Given the description of an element on the screen output the (x, y) to click on. 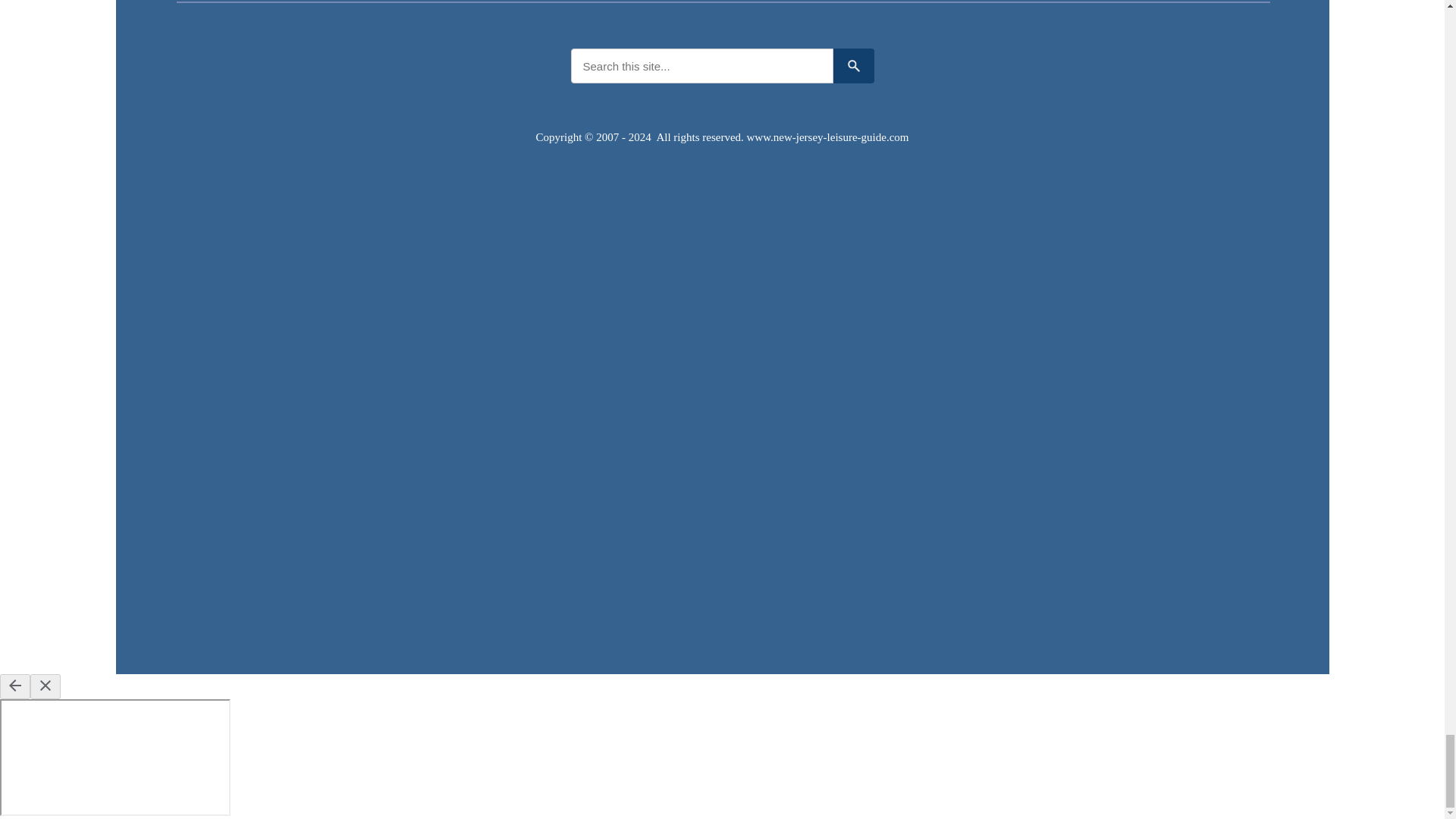
DuckDuckGo Search (852, 65)
